Given the description of an element on the screen output the (x, y) to click on. 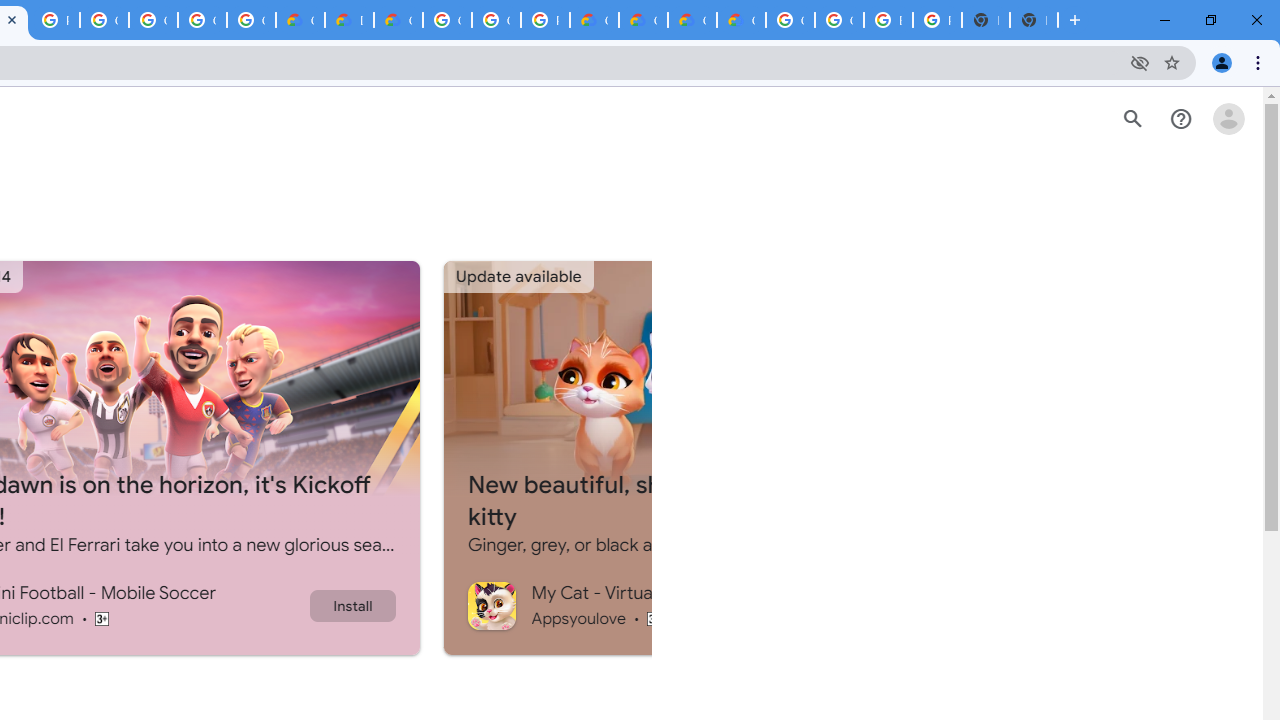
Gemini for Business and Developers | Google Cloud (398, 20)
Open account menu (1228, 119)
New Tab (1033, 20)
Customer Care | Google Cloud (594, 20)
Google Cloud Platform (839, 20)
Customer Care | Google Cloud (300, 20)
Google Cloud Service Health (740, 20)
Content rating Rated for 3+ (653, 618)
